Given the description of an element on the screen output the (x, y) to click on. 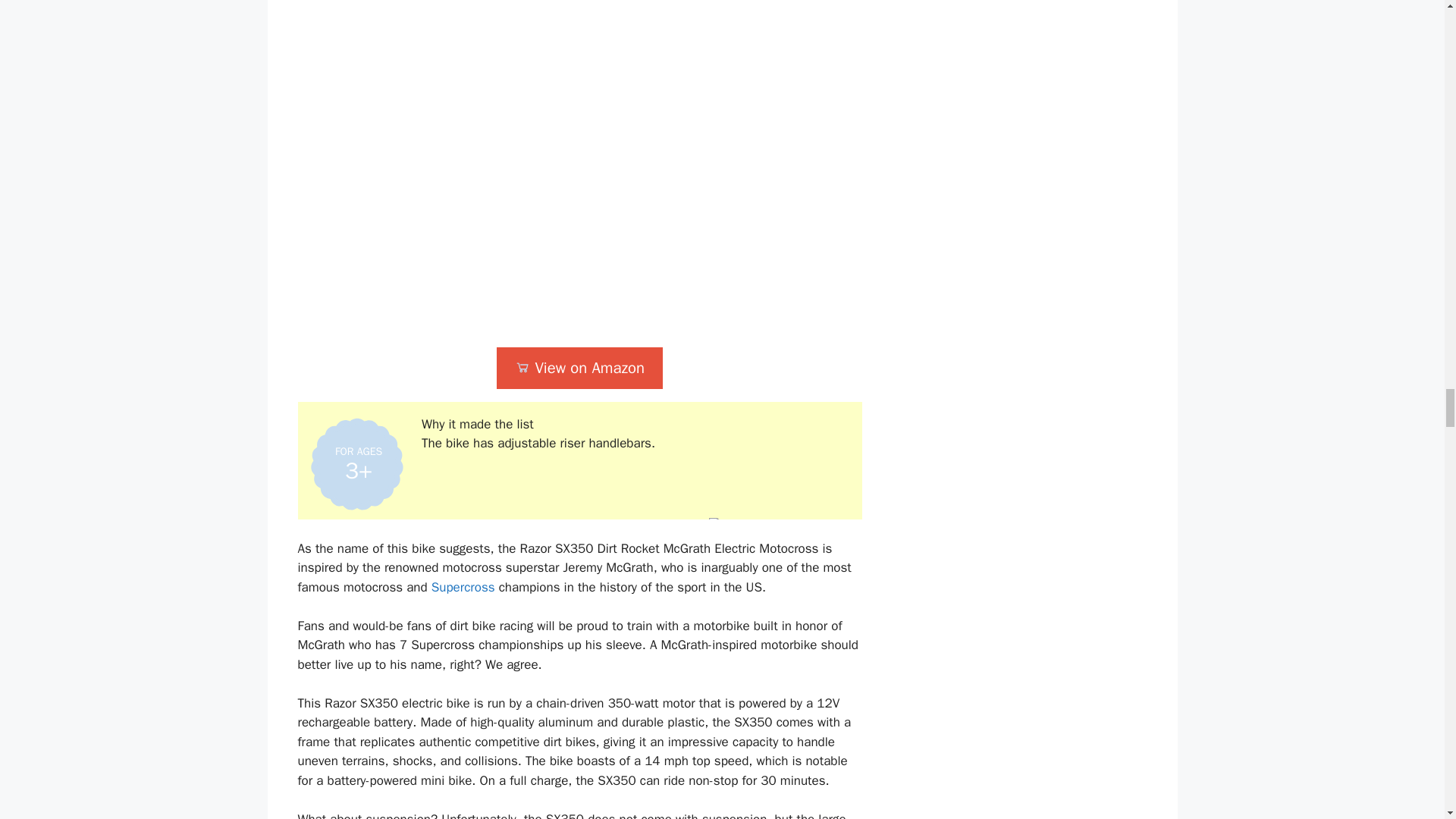
Supercross (462, 587)
View on Amazon (579, 368)
